Given the description of an element on the screen output the (x, y) to click on. 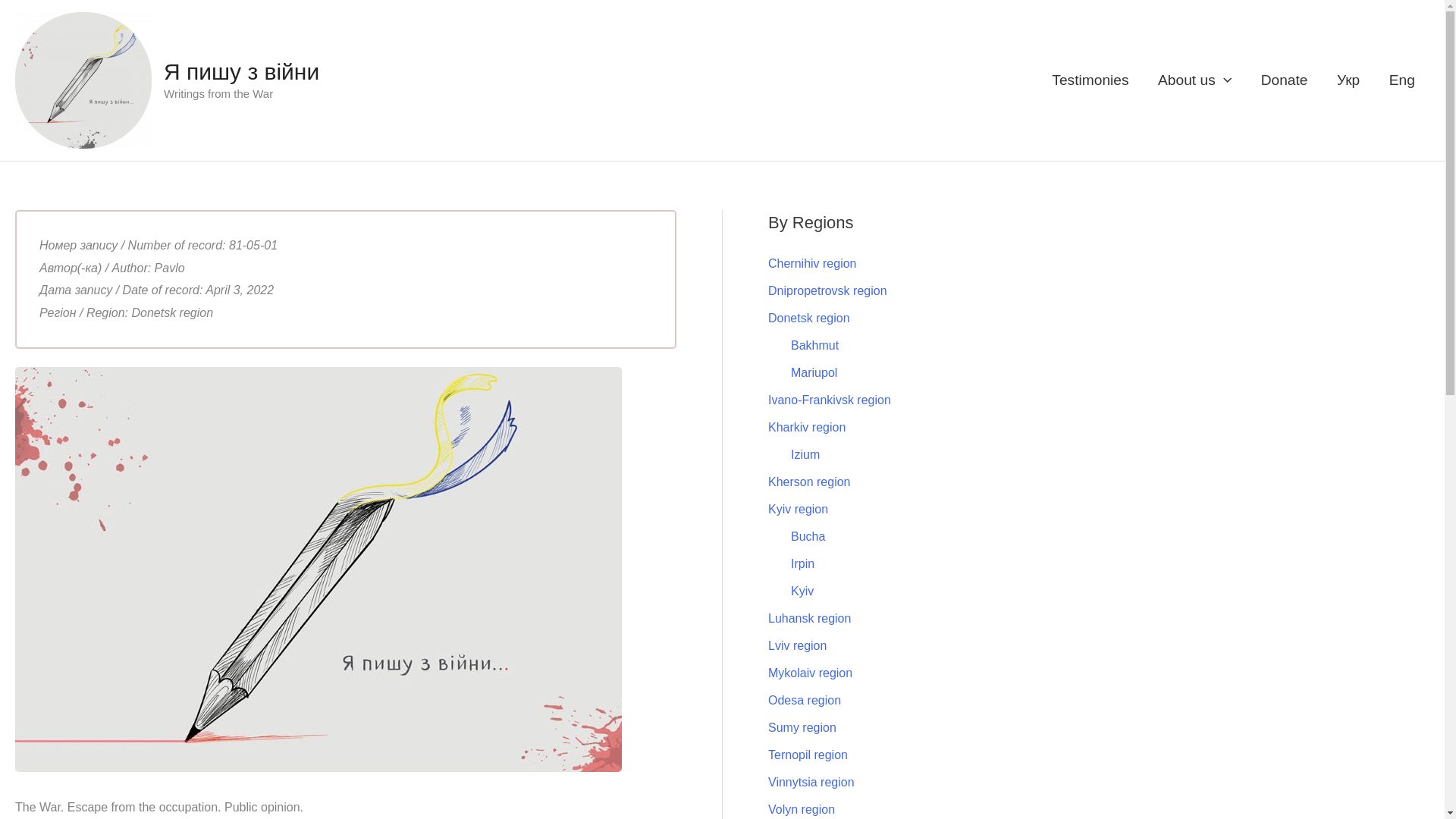
Kharkiv region (806, 427)
Mykolaiv region (809, 672)
Ivano-Frankivsk region (829, 399)
Donate (1284, 80)
Odesa region (804, 699)
Kyiv region (798, 508)
Irpin (801, 563)
Donetsk region (809, 318)
Kherson region (809, 481)
Bakhmut (814, 345)
